Given the description of an element on the screen output the (x, y) to click on. 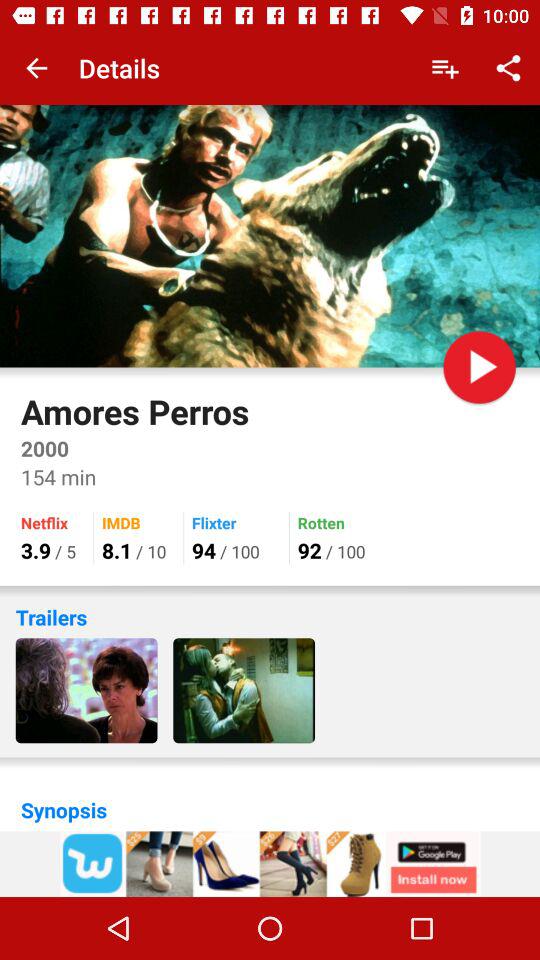
pause (479, 367)
